Given the description of an element on the screen output the (x, y) to click on. 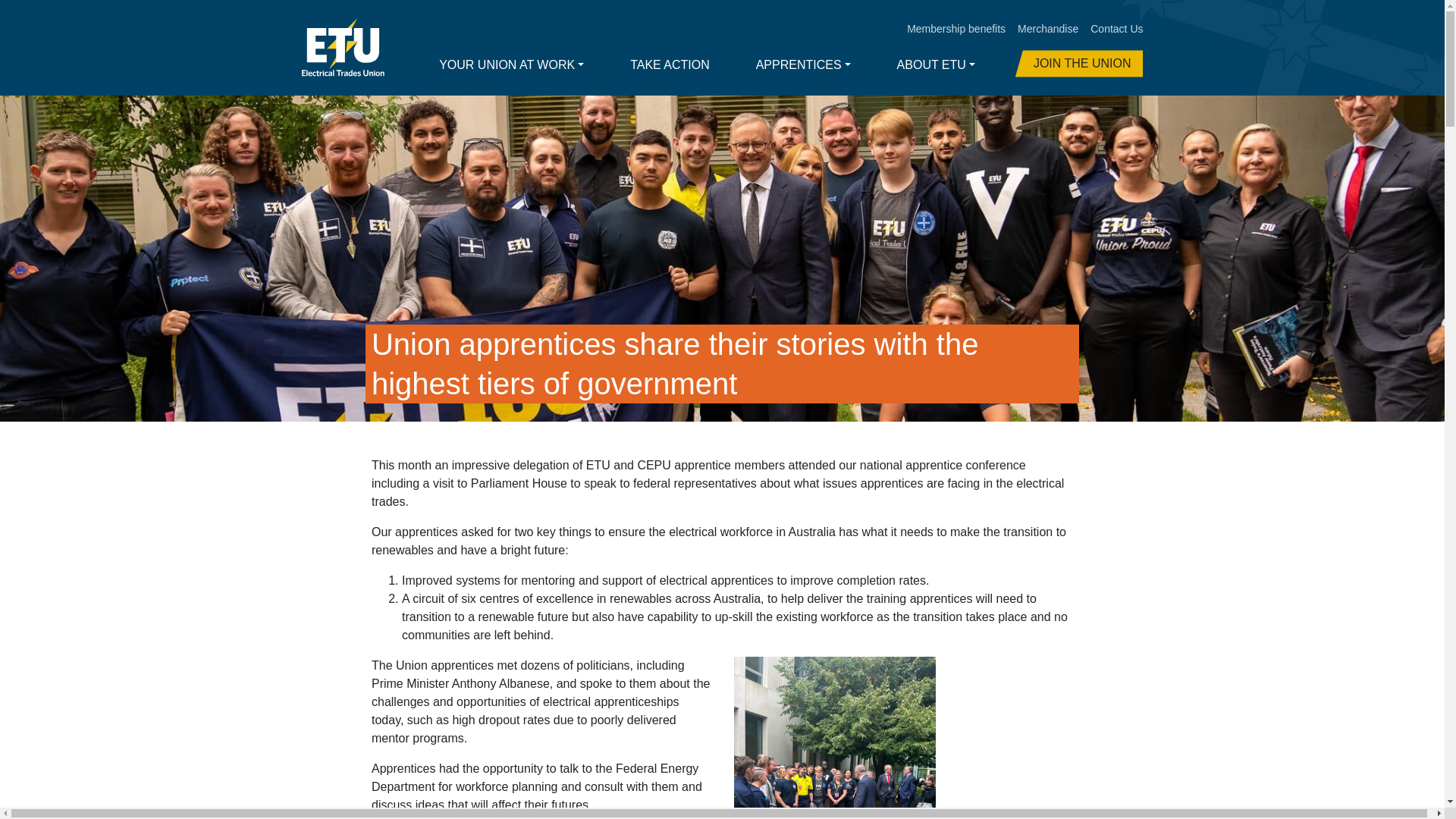
Take Action (670, 64)
TAKE ACTION (670, 64)
Membership benefits (956, 28)
Contact Us (1116, 28)
About ETU (936, 64)
JOIN THE UNION (1078, 62)
Apprentices (803, 64)
APPRENTICES (803, 64)
YOUR UNION AT WORK (510, 64)
ABOUT ETU (936, 64)
